Given the description of an element on the screen output the (x, y) to click on. 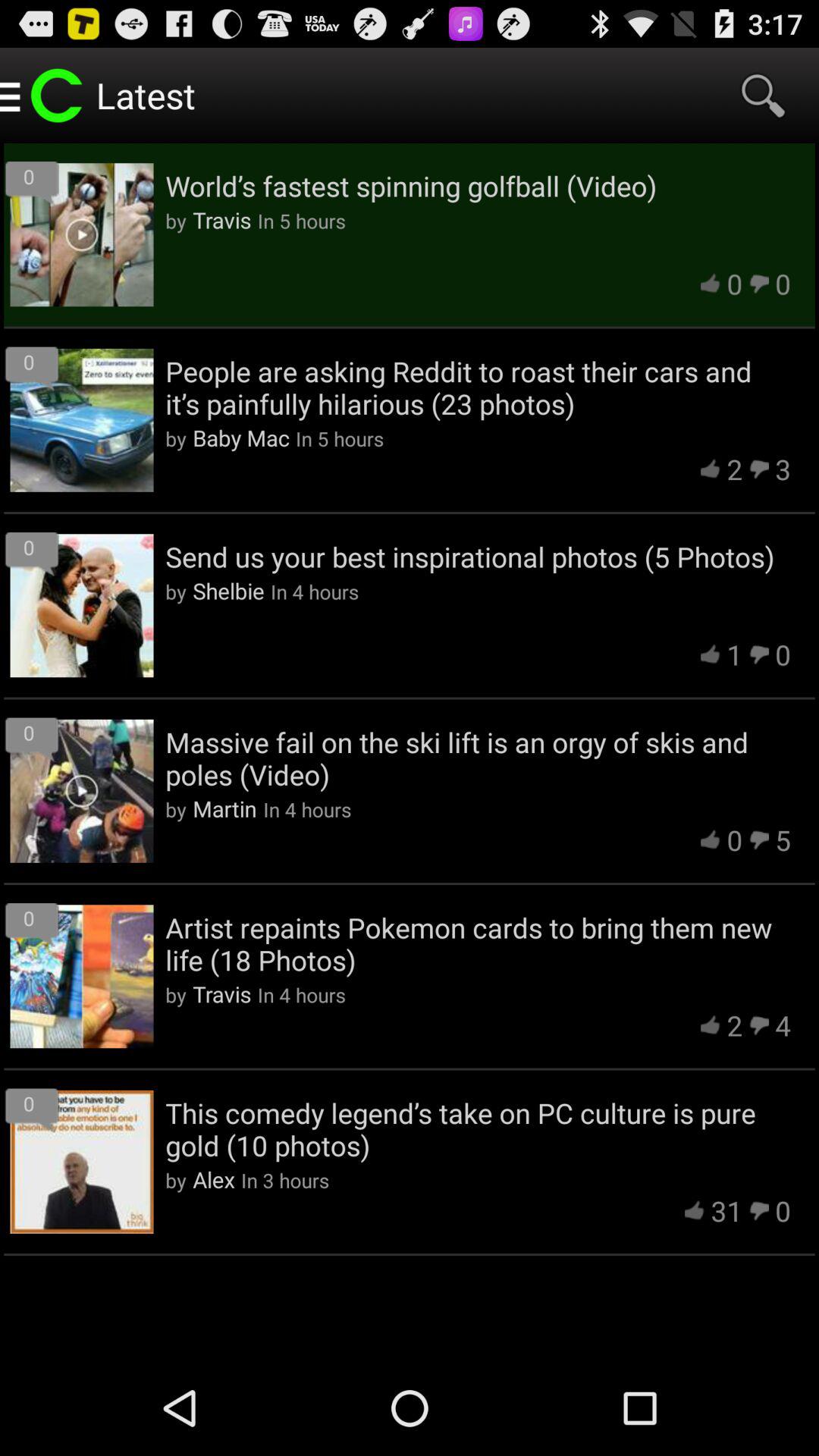
launch the app next to the by icon (213, 1179)
